Given the description of an element on the screen output the (x, y) to click on. 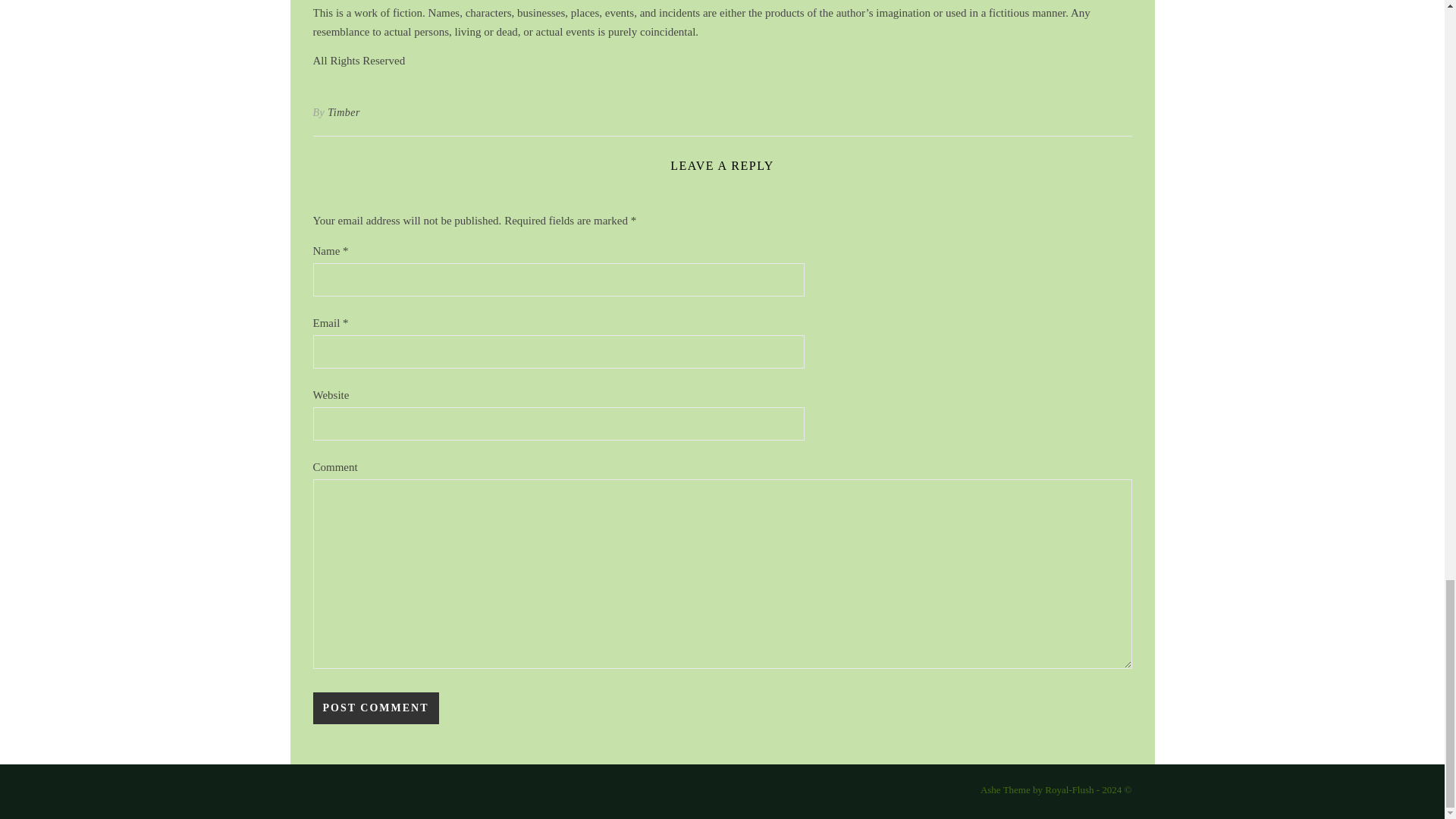
Post Comment (375, 707)
Timber (343, 112)
Posts by Timber (343, 112)
Post Comment (375, 707)
